Given the description of an element on the screen output the (x, y) to click on. 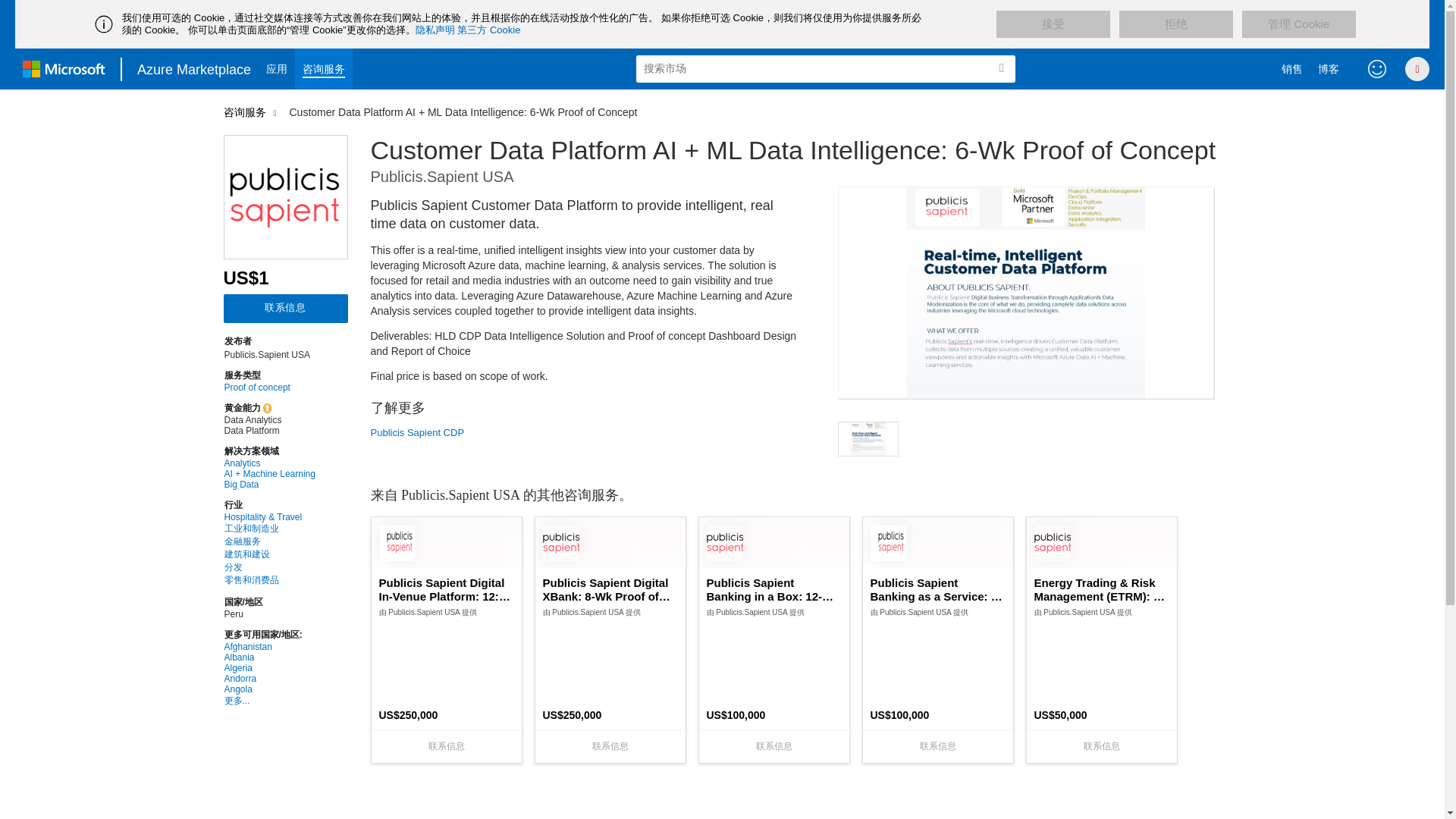
Azure Marketplace (194, 68)
Publicis Sapient Banking in a Box: 12-Wk Proof of Concept (773, 589)
Publicis Sapient Digital XBank: 8-Wk Proof of Concept (610, 589)
Search (1001, 68)
Publicis Sapient Banking as a Service: 8-Wk Proof of Concept (938, 589)
